Given the description of an element on the screen output the (x, y) to click on. 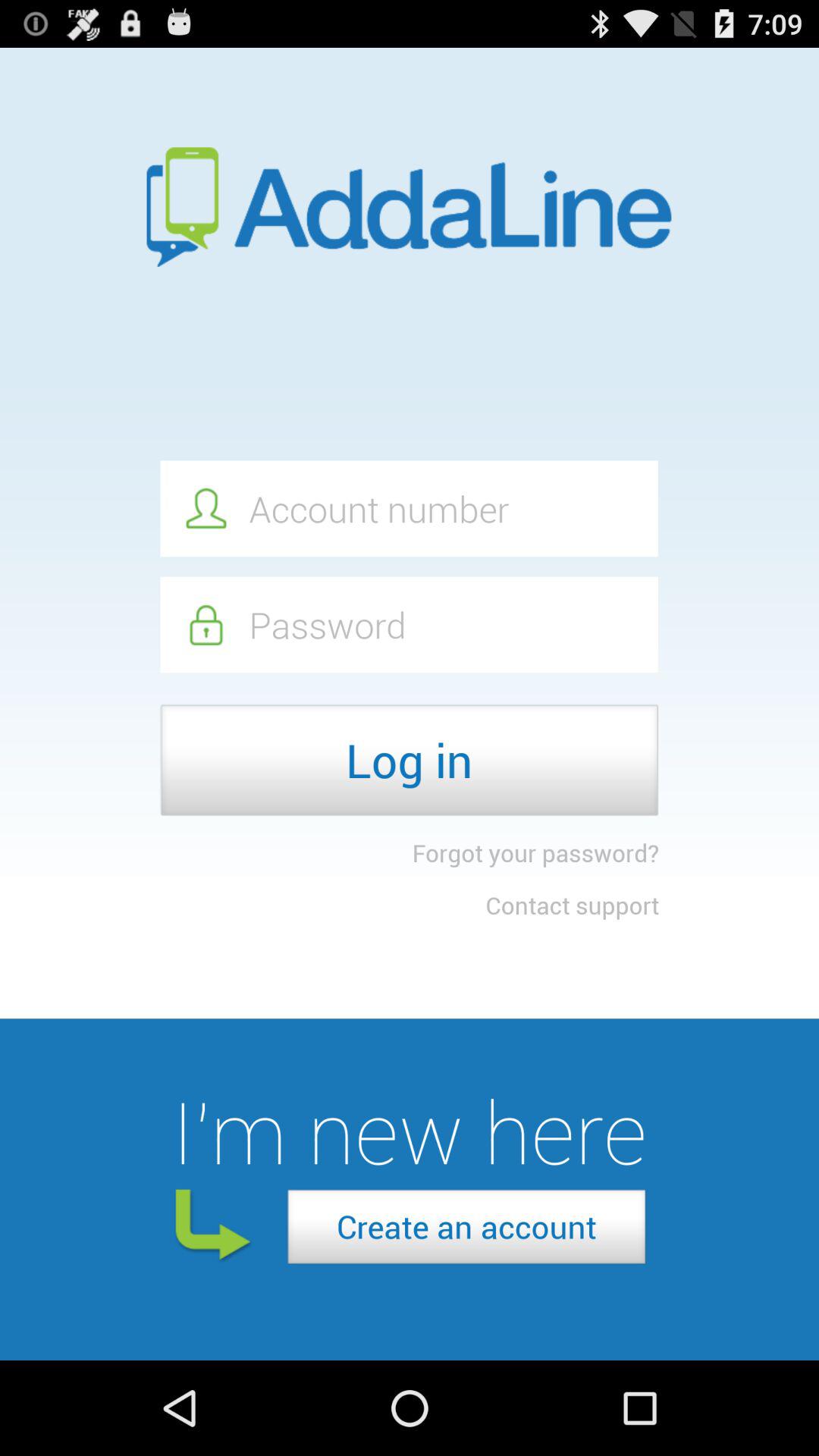
press log in icon (409, 759)
